Given the description of an element on the screen output the (x, y) to click on. 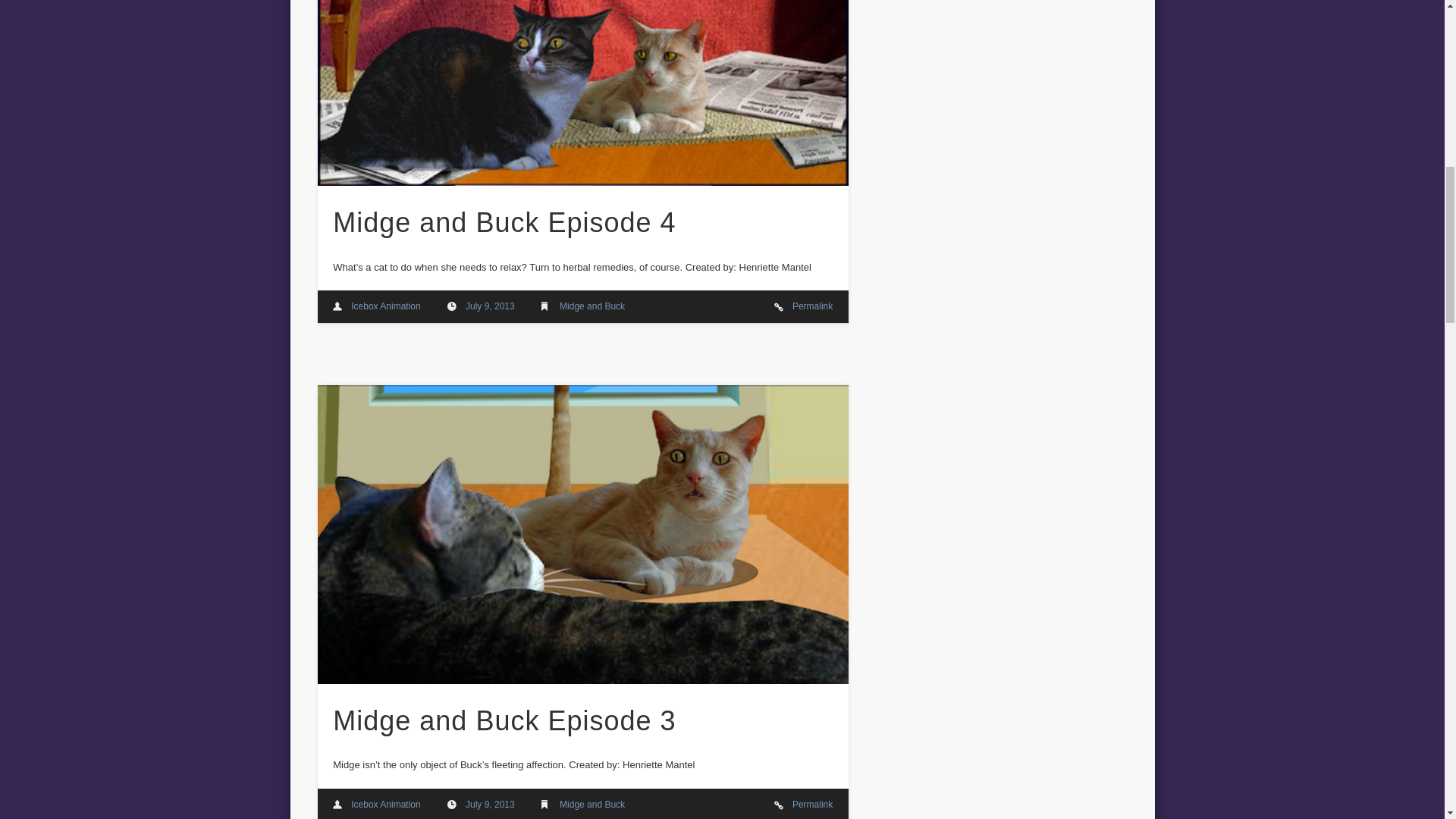
Midge and Buck Episode 4 (490, 306)
Midge and Buck Episode 3 (490, 804)
Midge and Buck Episode 4 (582, 92)
Icebox Animation (385, 306)
Midge and Buck (591, 804)
Permalink (812, 804)
July 9, 2013 (490, 804)
Midge and Buck Episode 4 (504, 222)
Midge and Buck Episode 3 (812, 804)
Midge and Buck Episode 3 (504, 720)
Icebox Animation (385, 804)
Midge and Buck (591, 306)
July 9, 2013 (490, 306)
Posts by Icebox Animation (385, 306)
